Given the description of an element on the screen output the (x, y) to click on. 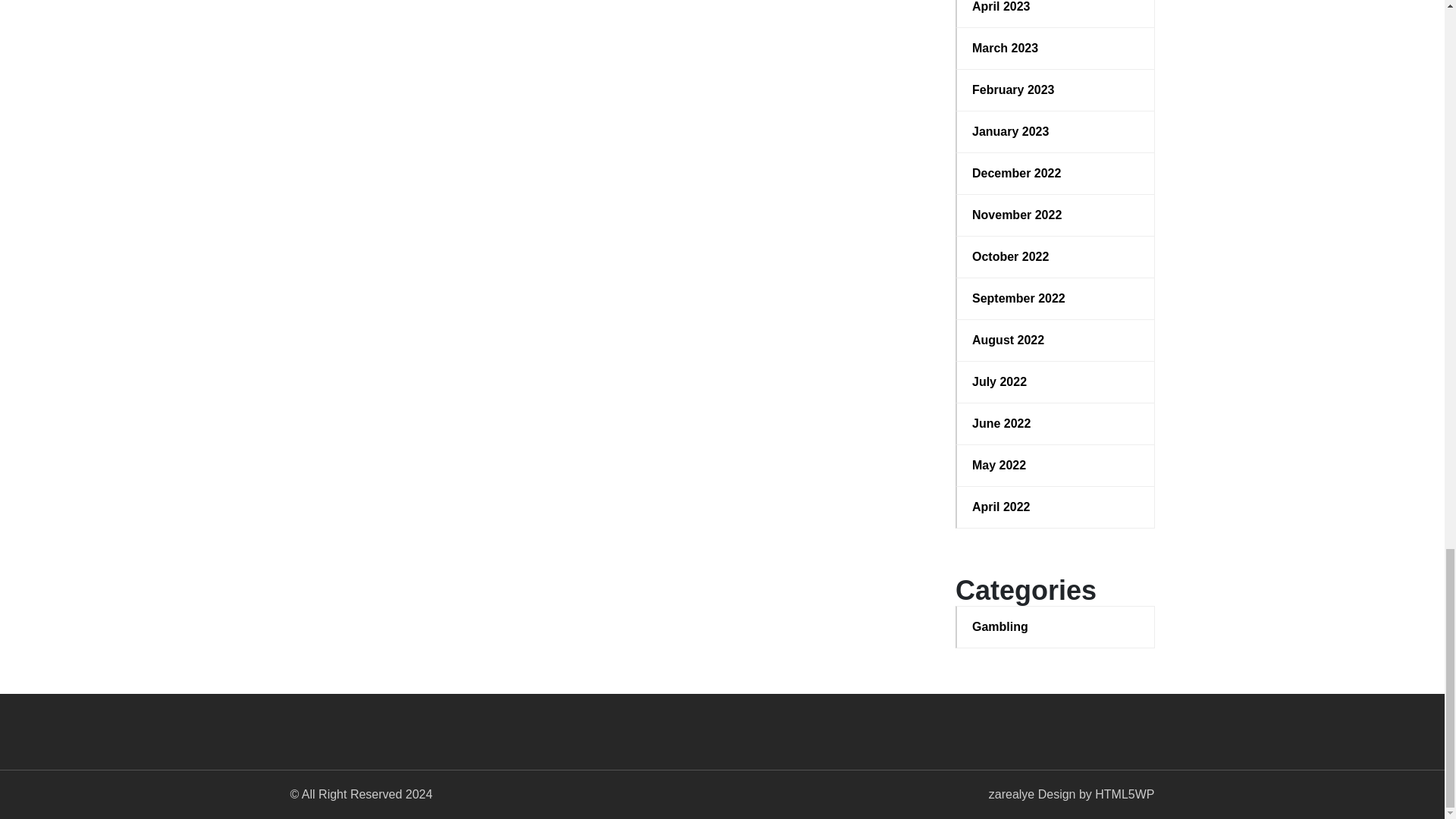
February 2023 (1055, 90)
September 2022 (1055, 298)
January 2023 (1055, 131)
April 2023 (1055, 7)
August 2022 (1055, 340)
March 2023 (1055, 48)
November 2022 (1055, 215)
December 2022 (1055, 173)
October 2022 (1055, 257)
